Given the description of an element on the screen output the (x, y) to click on. 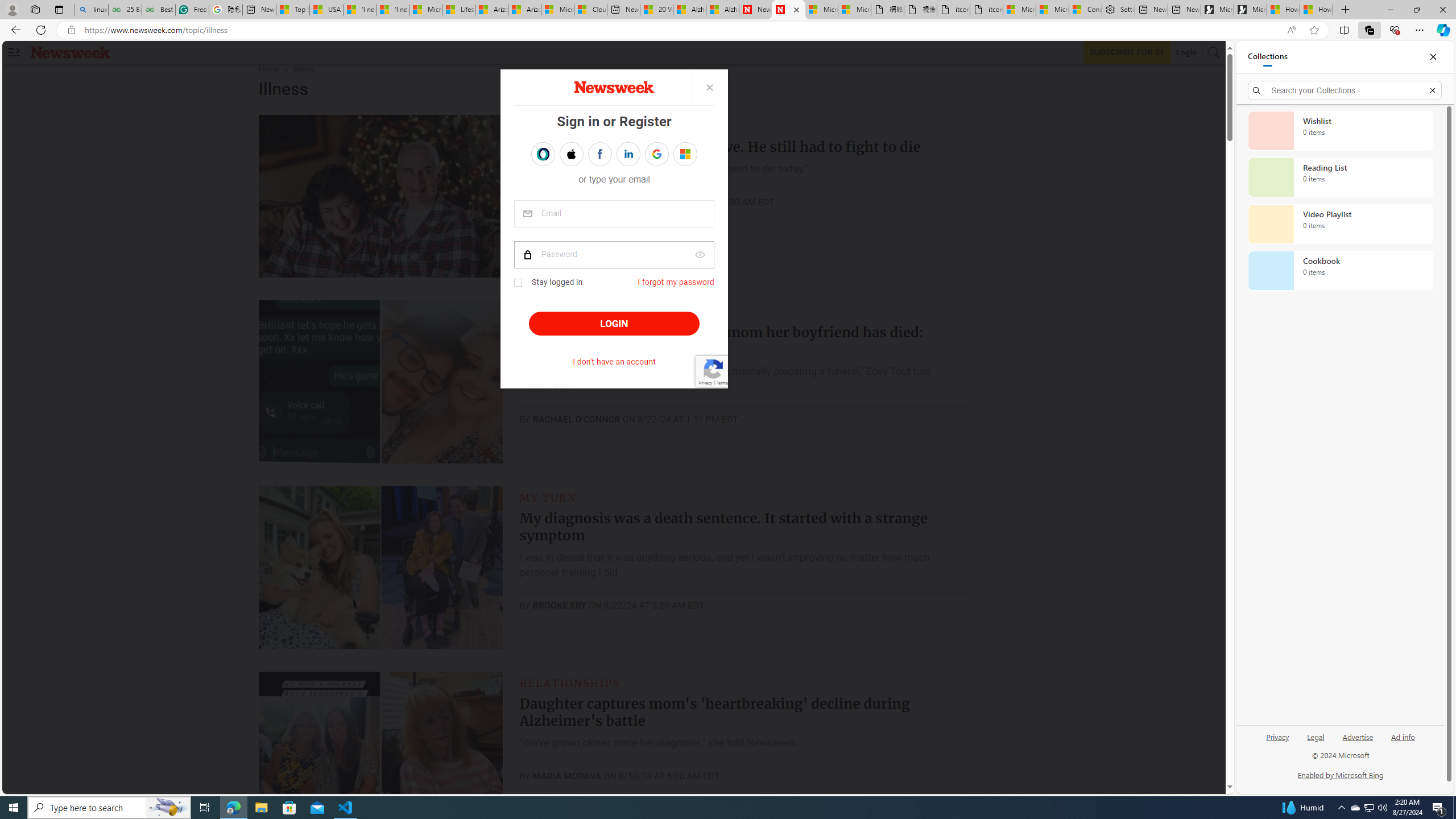
Reading List collection, 0 items (1339, 177)
I don't have an account (613, 362)
Sign in with LINKEDIN (627, 154)
Video Playlist collection, 0 items (1339, 223)
Wishlist collection, 0 items (1339, 130)
password (613, 254)
Cookbook collection, 0 items (1339, 270)
